Given the description of an element on the screen output the (x, y) to click on. 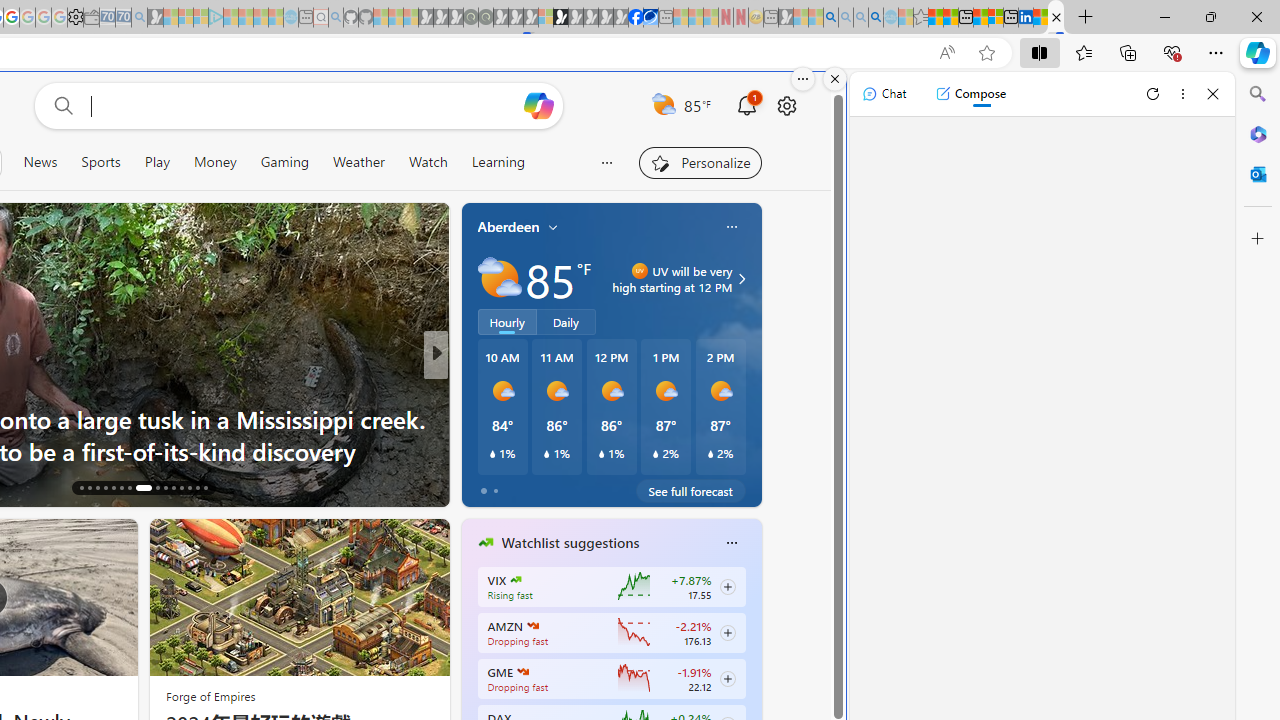
Wallet - Sleeping (91, 17)
Metro (477, 418)
AZ Animals (US) (477, 386)
